Given the description of an element on the screen output the (x, y) to click on. 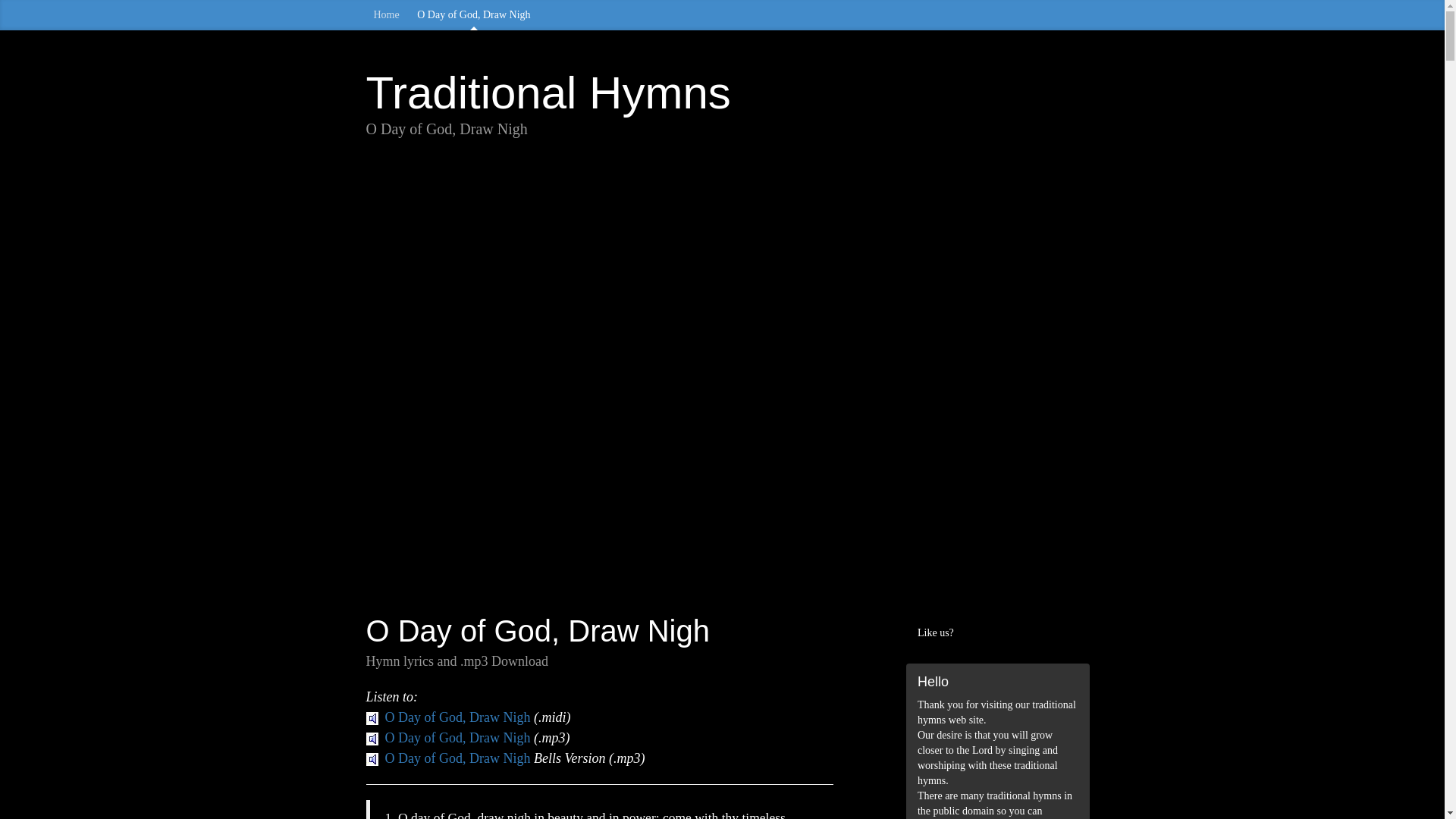
  O Day of God, Draw Nigh (447, 737)
  O Day of God, Draw Nigh (447, 758)
O Day of God, Draw Nigh (473, 15)
Home (385, 15)
  O Day of God, Draw Nigh (447, 717)
